Given the description of an element on the screen output the (x, y) to click on. 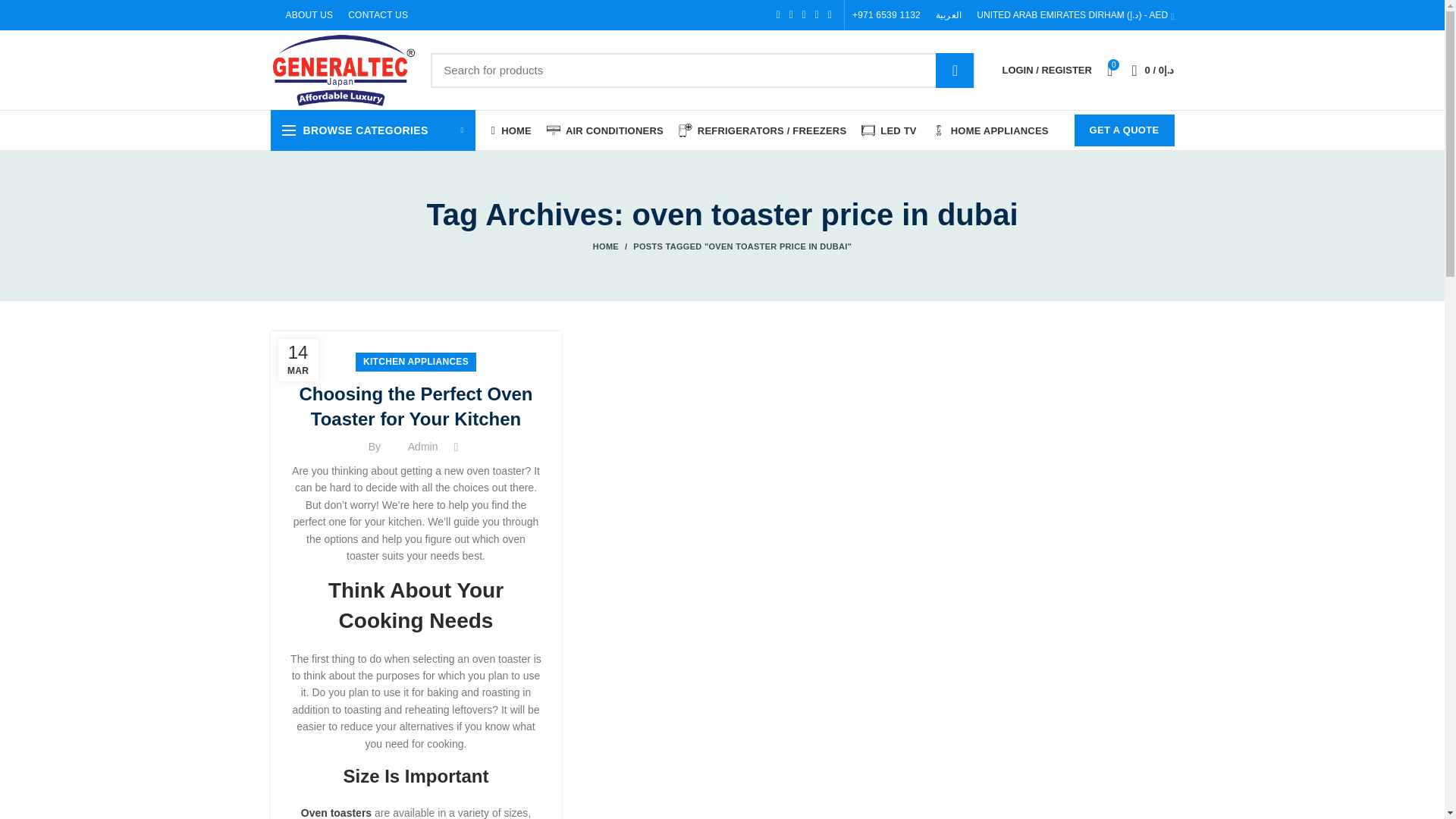
CONTACT US (377, 15)
Shopping cart (1152, 69)
SEARCH (955, 70)
ABOUT US (309, 15)
My account (1046, 69)
